Given the description of an element on the screen output the (x, y) to click on. 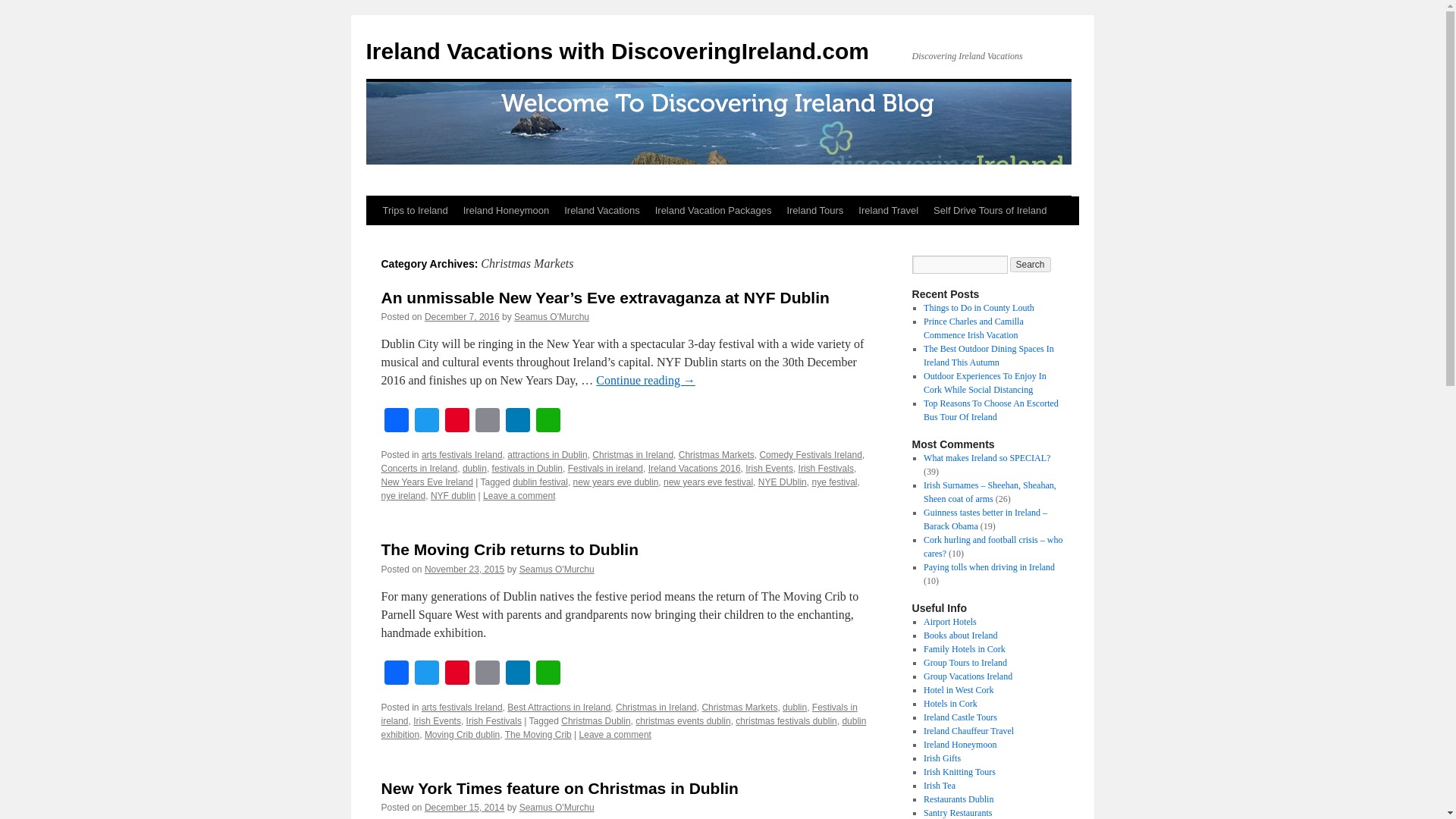
Ireland Vacations with DiscoveringIreland.com (617, 50)
dublin festival (539, 481)
WhatsApp (547, 421)
Festivals in ireland (605, 468)
Ireland Tours (814, 210)
Leave a comment (518, 495)
Twitter (425, 674)
new years eve festival (707, 481)
Ireland Vacations (601, 210)
LinkedIn (517, 421)
Christmas in Ireland (632, 454)
Pinterest (456, 421)
nye festival (833, 481)
Seamus O'Murchu (551, 317)
Self Drive Tours of Ireland (990, 210)
